Given the description of an element on the screen output the (x, y) to click on. 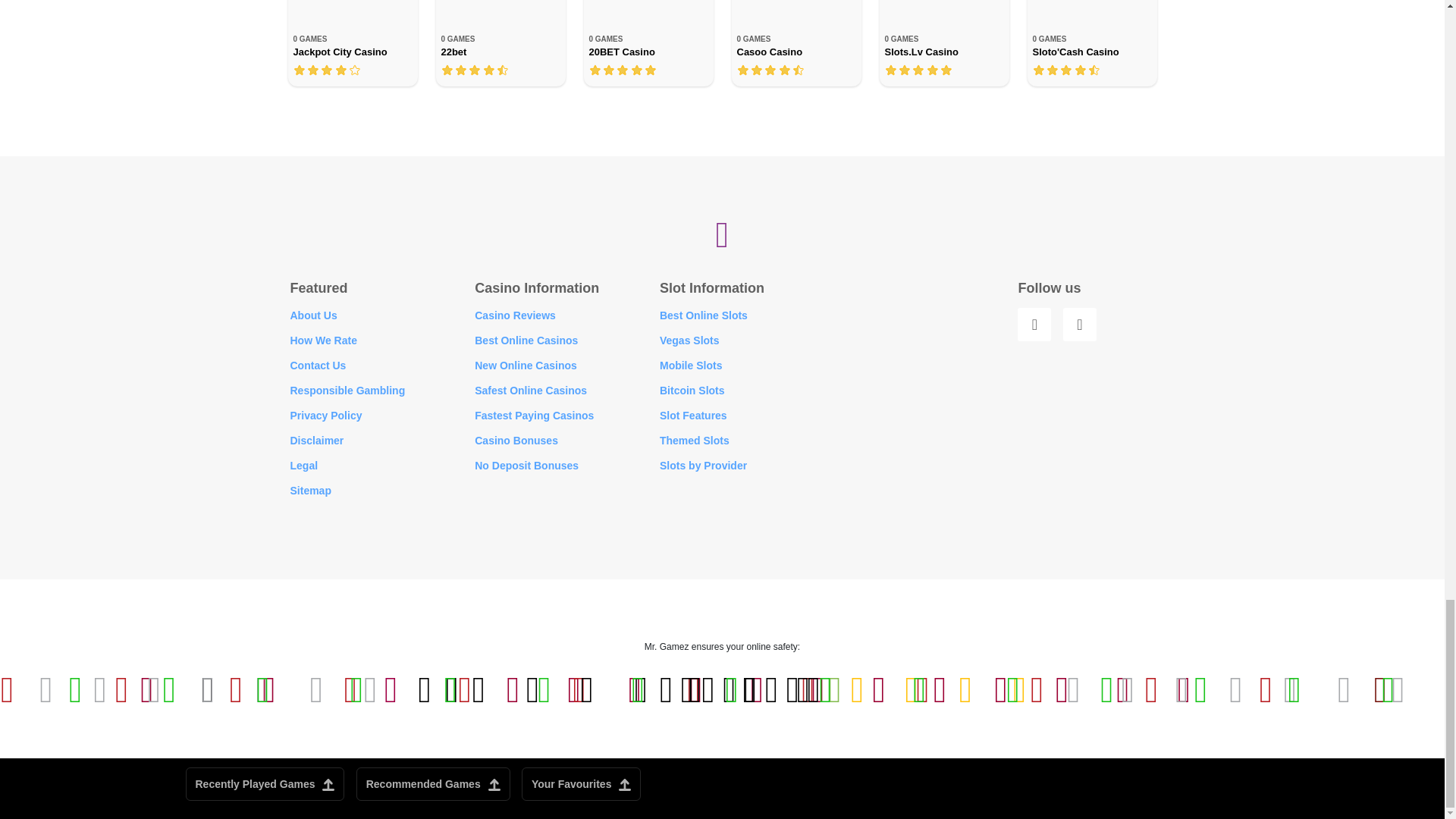
facebook (1034, 324)
20BET Casino (648, 43)
Casoo Casino (795, 43)
Sloto'Cash Casino (1091, 43)
Jackpot City Casino (352, 43)
twitter (1079, 324)
22bet (499, 43)
